Given the description of an element on the screen output the (x, y) to click on. 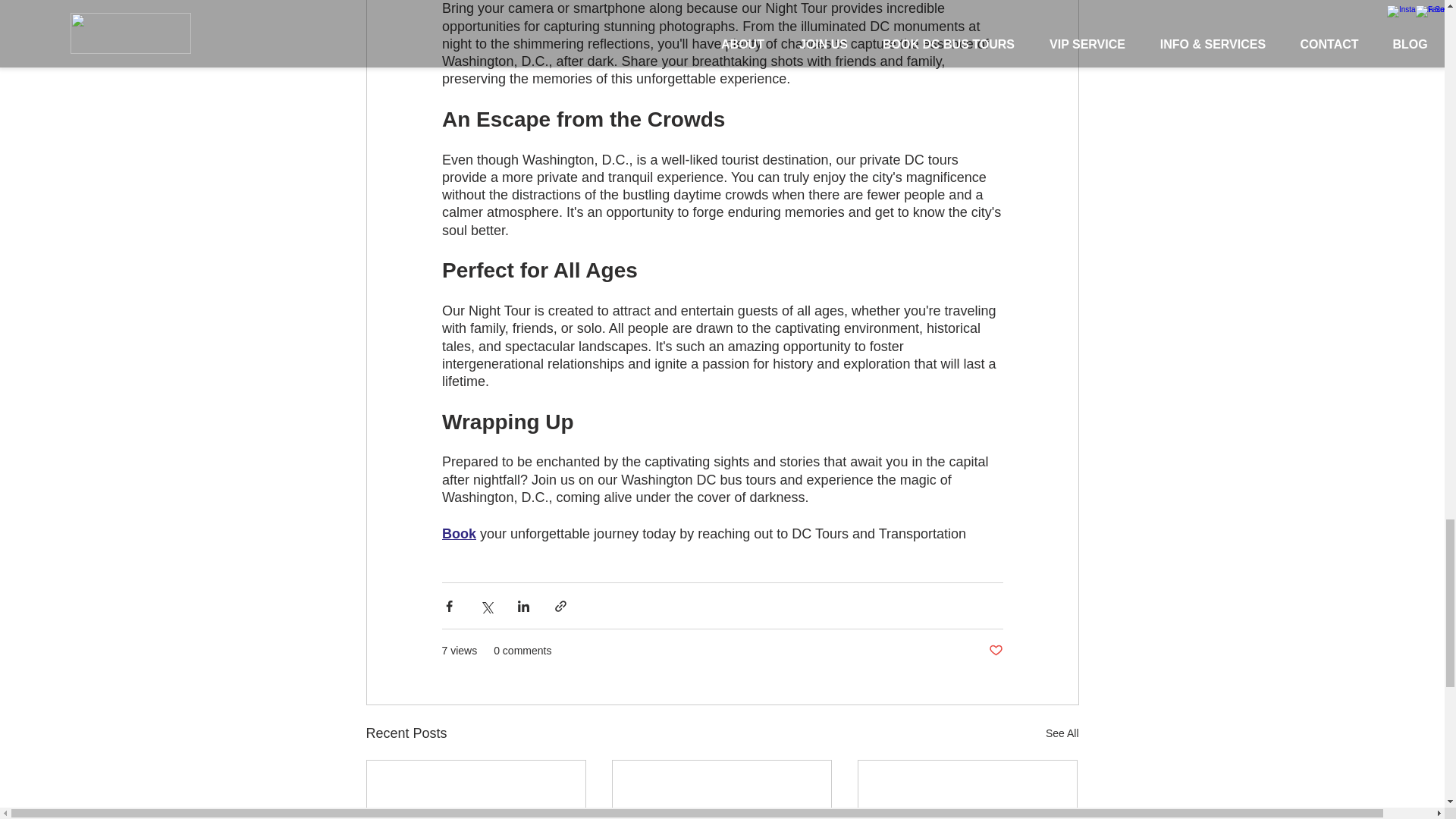
See All (1061, 733)
Book (458, 533)
Post not marked as liked (995, 650)
